Given the description of an element on the screen output the (x, y) to click on. 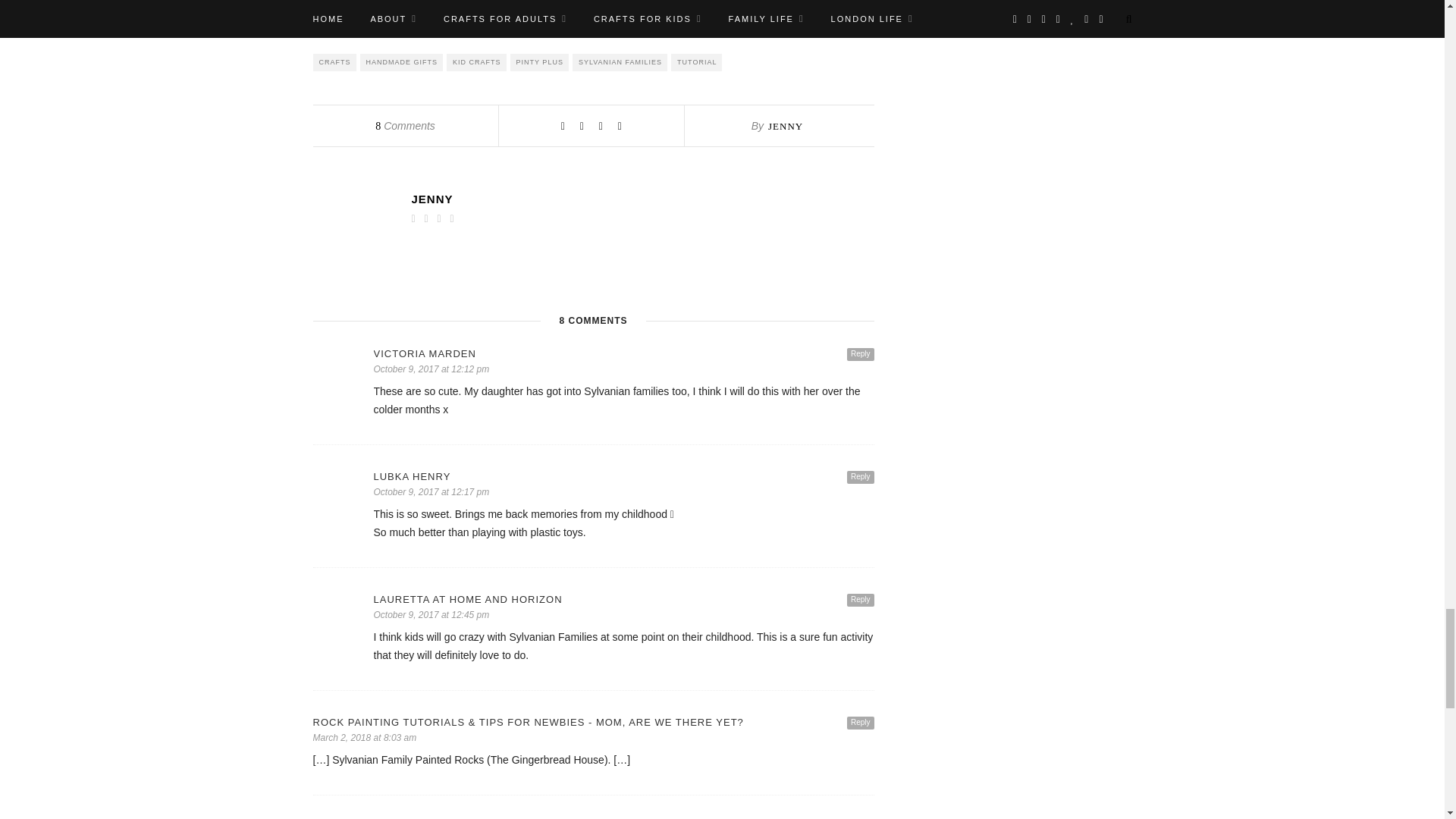
Posts by jenny (785, 125)
Posts by jenny (641, 198)
